Given the description of an element on the screen output the (x, y) to click on. 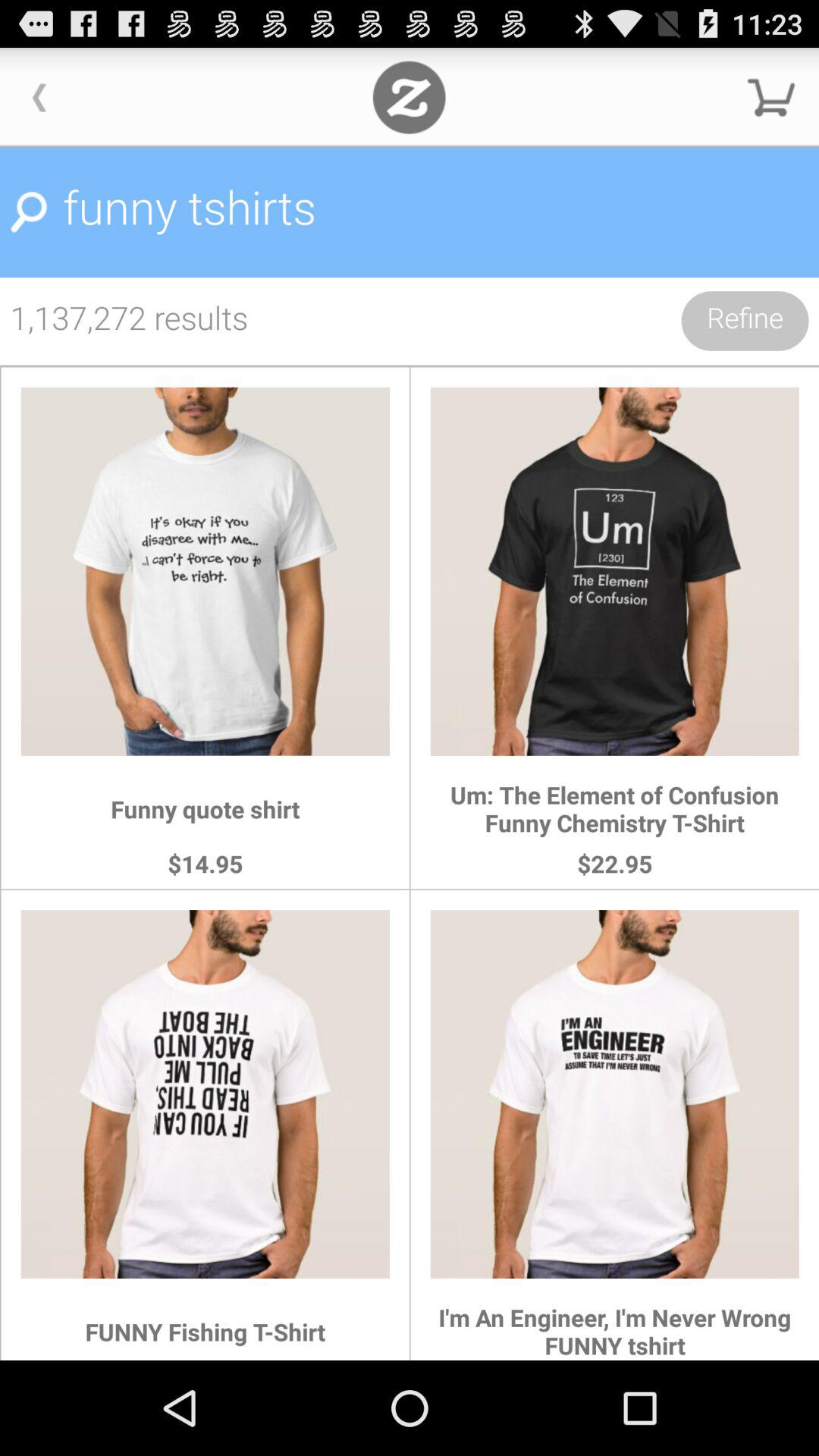
back to the home page (408, 97)
